Given the description of an element on the screen output the (x, y) to click on. 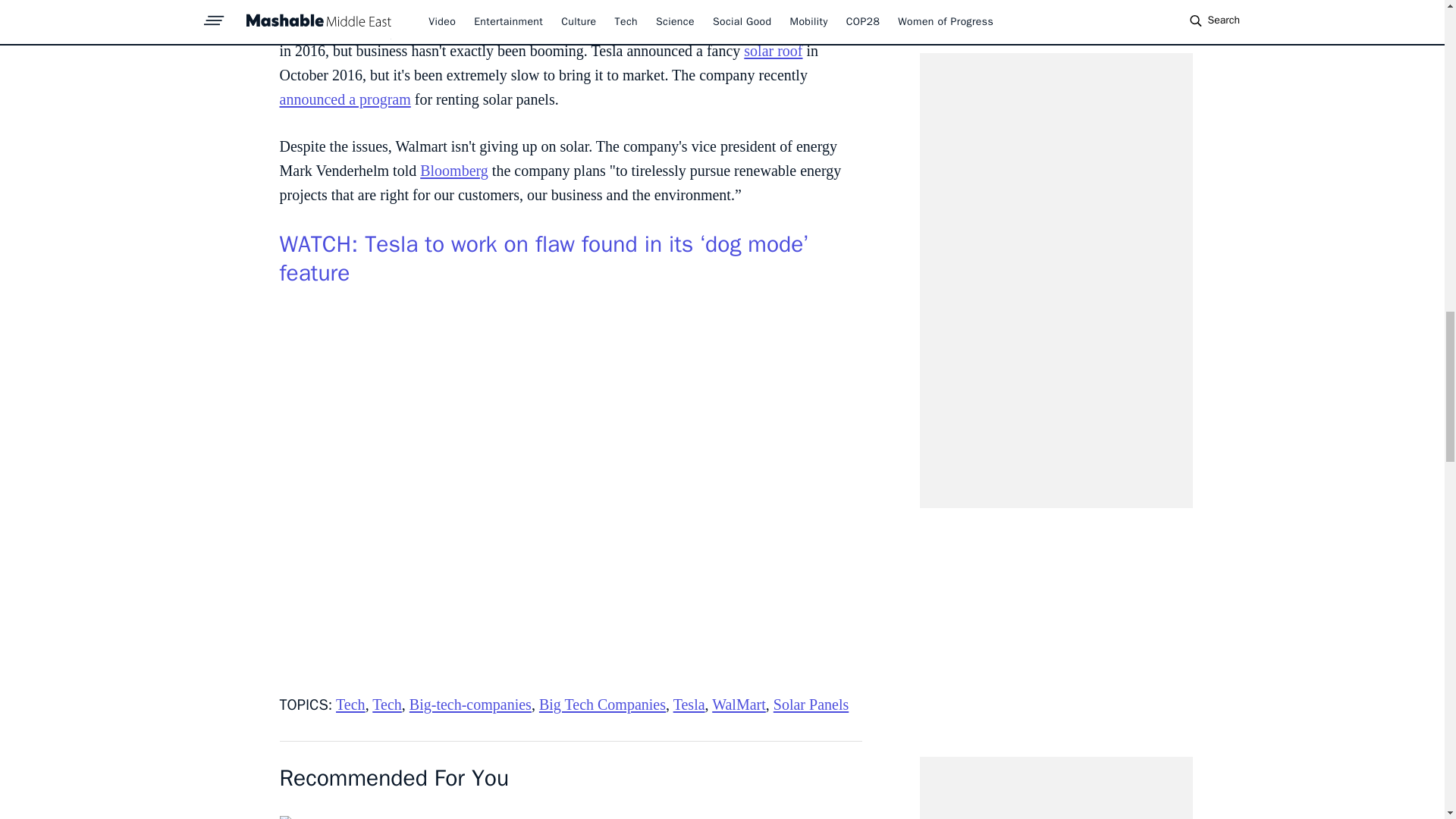
solar roof (773, 50)
Big-tech-companies (470, 704)
Tech (350, 704)
WalMart (738, 704)
Big Tech Companies (601, 704)
Tesla (688, 704)
Solar Panels (810, 704)
Bloomberg (453, 170)
announced a program (344, 98)
Tech (386, 704)
